Given the description of an element on the screen output the (x, y) to click on. 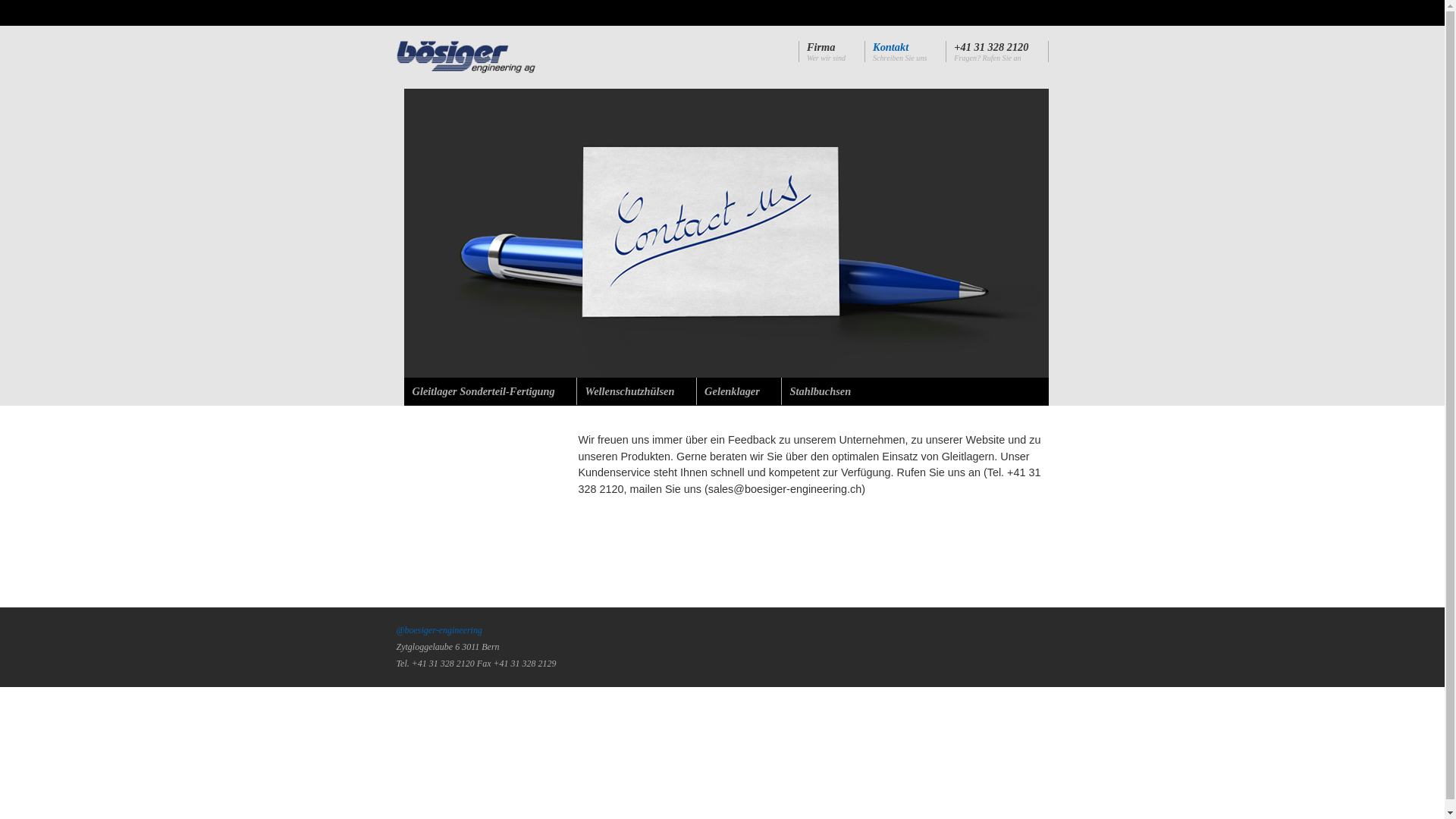
Stahlbuchsen Element type: text (819, 391)
@boesiger-engineering Element type: text (438, 629)
Kontakt Element type: text (890, 46)
Firma Element type: text (820, 46)
Gelenklager Element type: text (731, 391)
Gleitlager Sonderteil-Fertigung Element type: text (483, 391)
+41 31 328 2120 Element type: text (990, 46)
kontakt Element type: hover (725, 232)
